Given the description of an element on the screen output the (x, y) to click on. 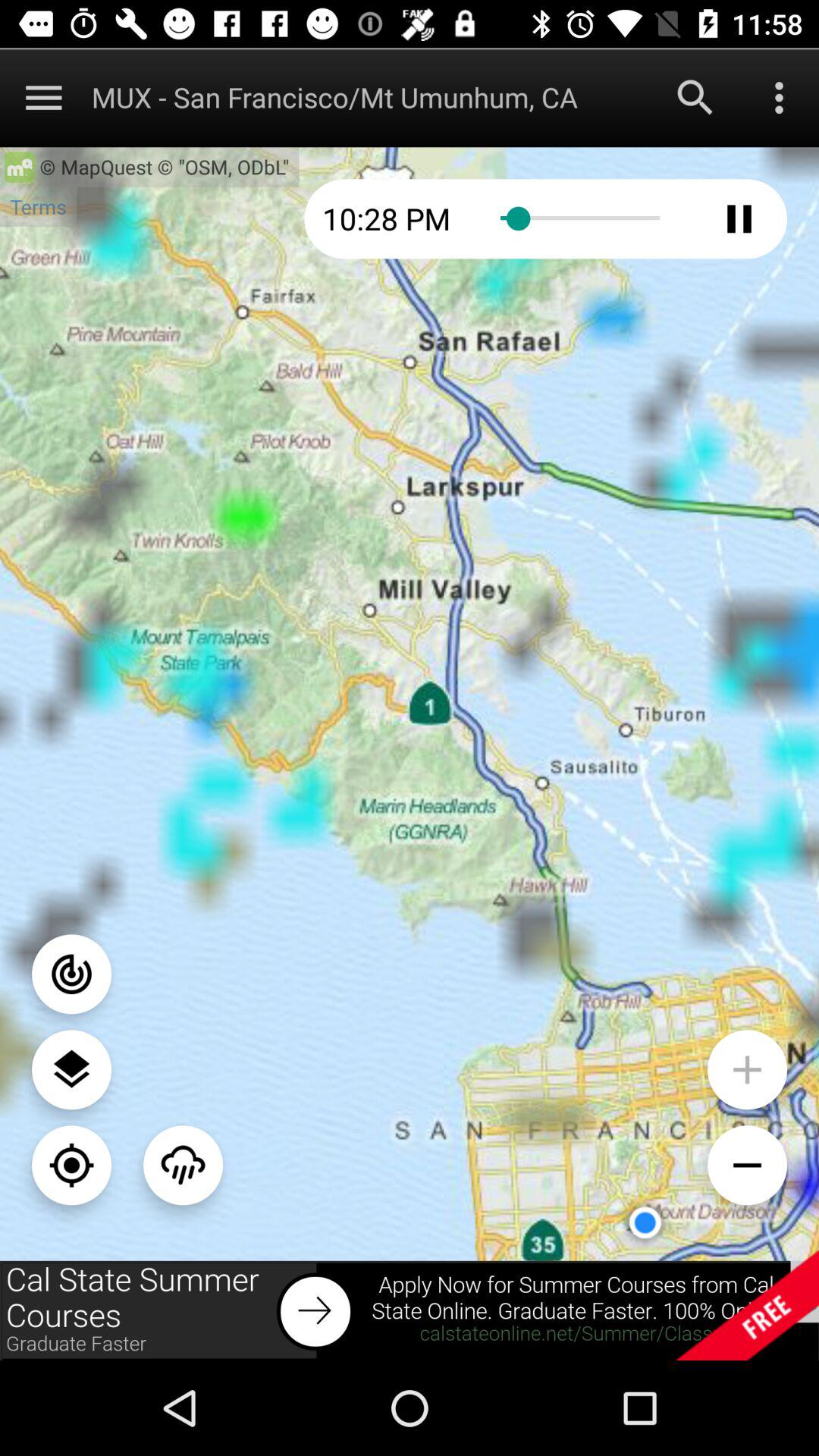
find on map (71, 1165)
